Given the description of an element on the screen output the (x, y) to click on. 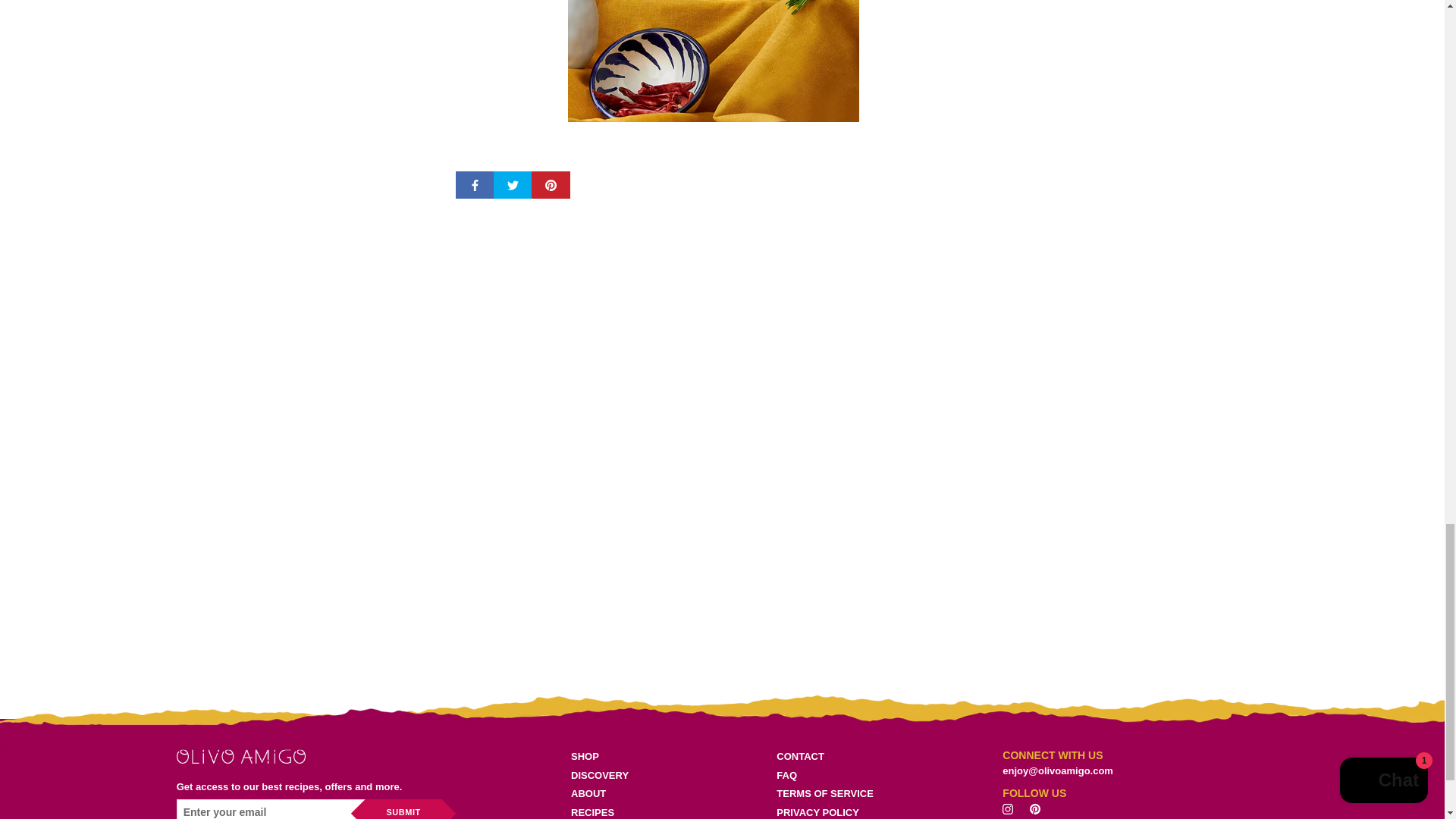
SHOP (608, 756)
ABOUT (608, 793)
RECIPES (608, 812)
SUBMIT (403, 809)
Email Us (1058, 770)
DISCOVERY (608, 775)
